Given the description of an element on the screen output the (x, y) to click on. 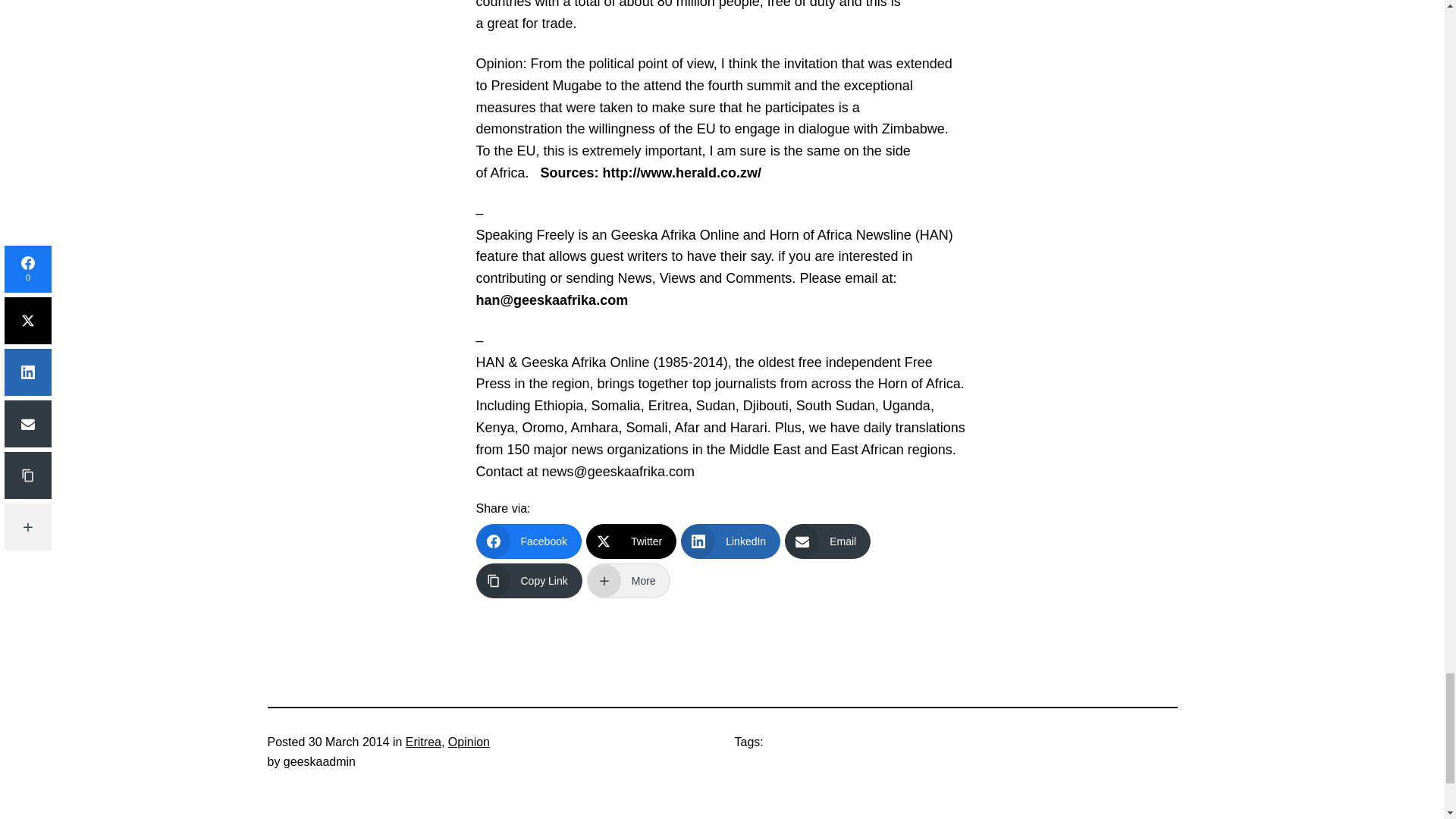
Eritrea (423, 741)
Facebook (528, 541)
Email (827, 541)
Twitter (631, 541)
Copy Link (529, 580)
LinkedIn (730, 541)
Opinion (468, 741)
More (627, 580)
